Given the description of an element on the screen output the (x, y) to click on. 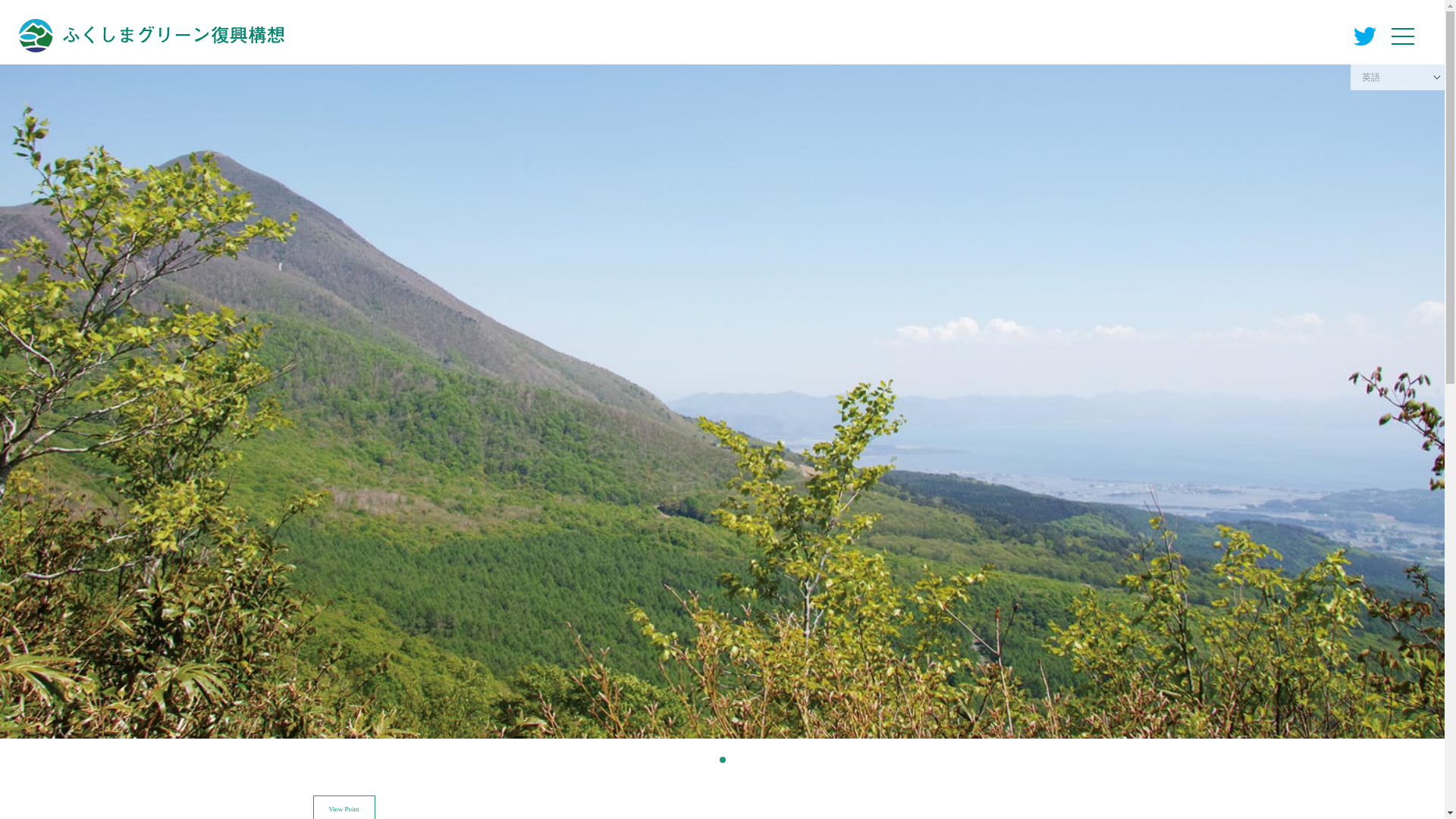
1 (722, 759)
